Given the description of an element on the screen output the (x, y) to click on. 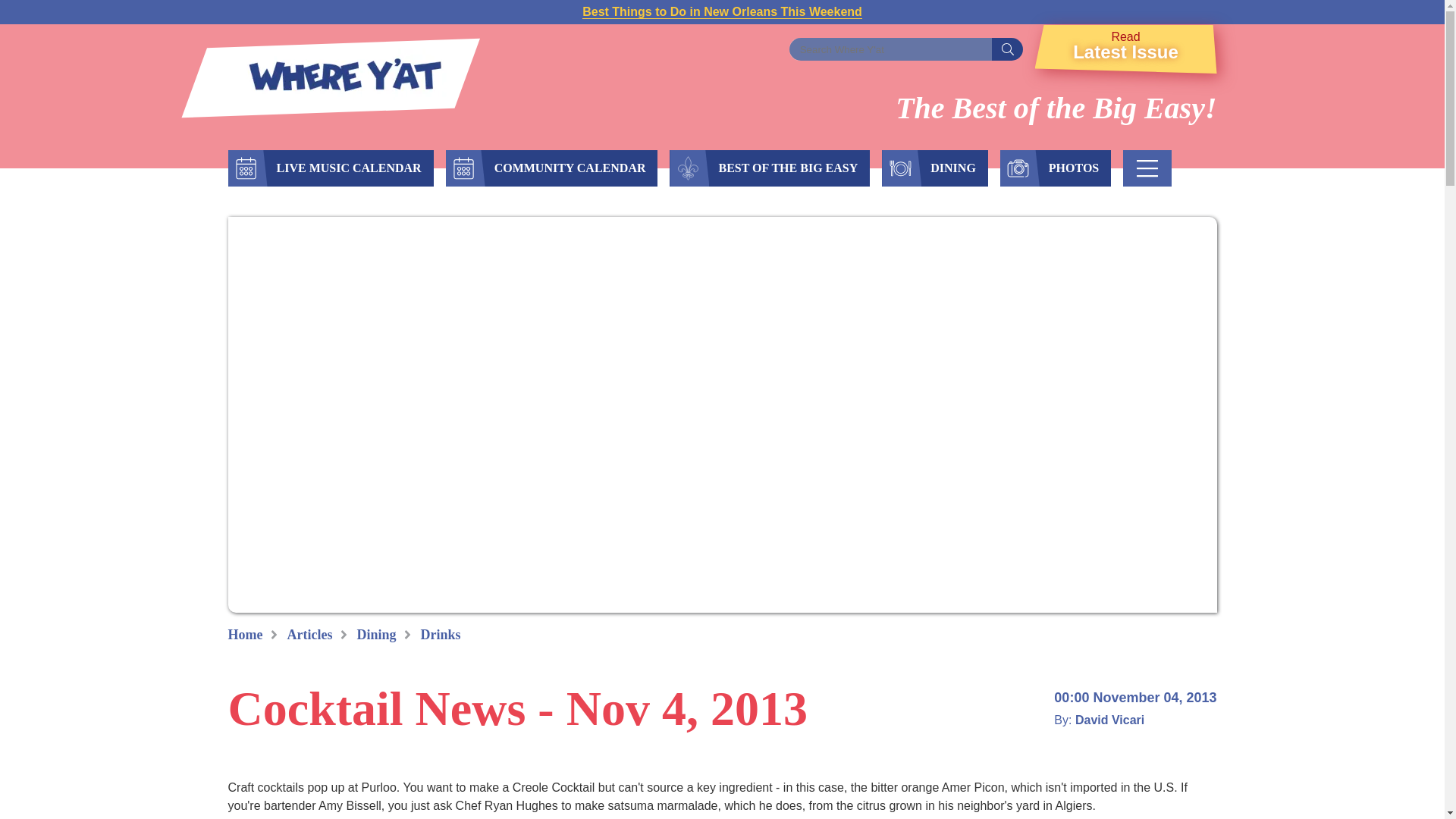
COMMUNITY CALENDAR (1124, 49)
LIVE MUSIC CALENDAR (569, 167)
Search (347, 167)
Best Things to Do in New Orleans This Weekend (1007, 48)
